Given the description of an element on the screen output the (x, y) to click on. 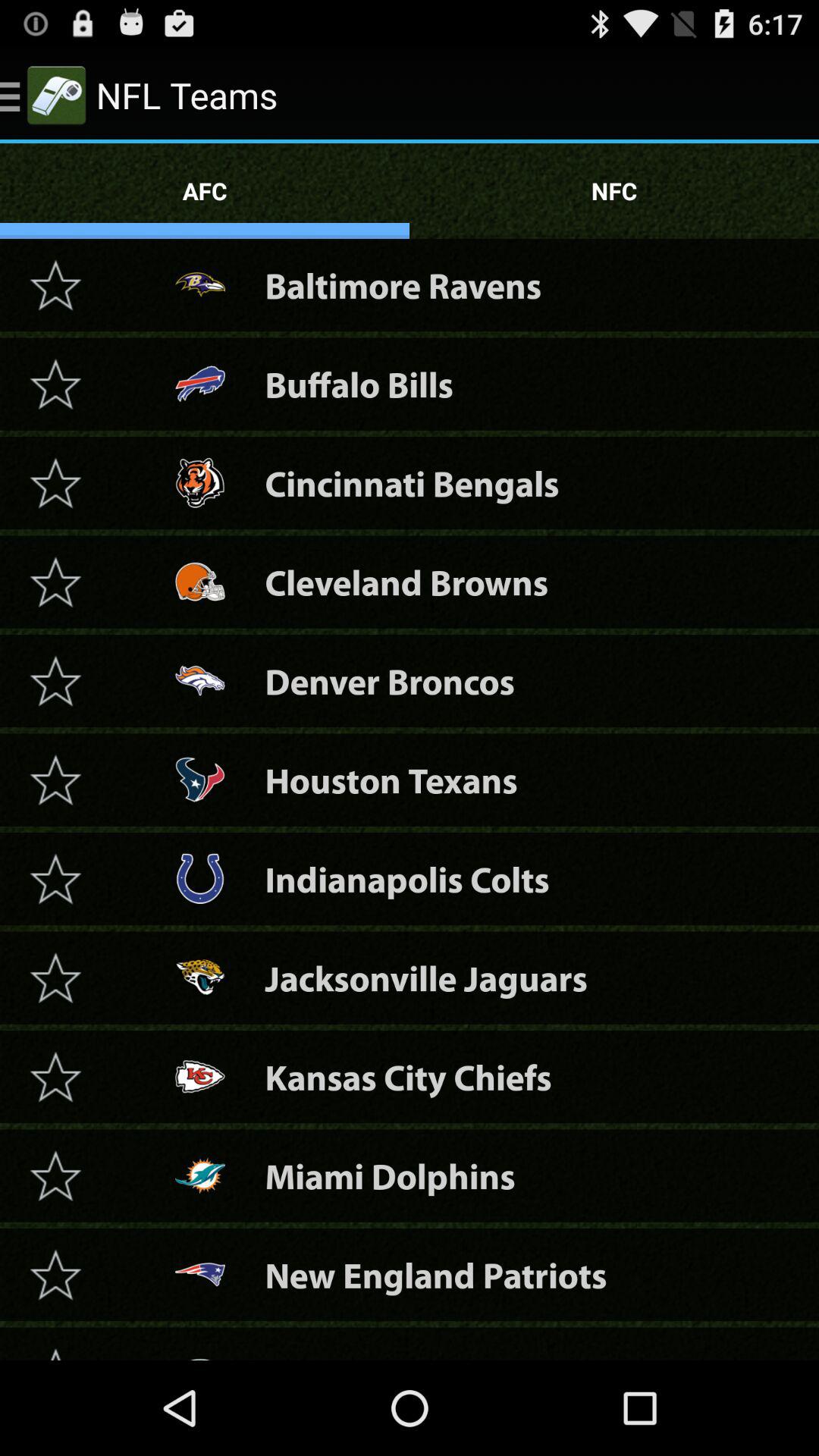
flip to the jacksonville jaguars item (426, 977)
